Given the description of an element on the screen output the (x, y) to click on. 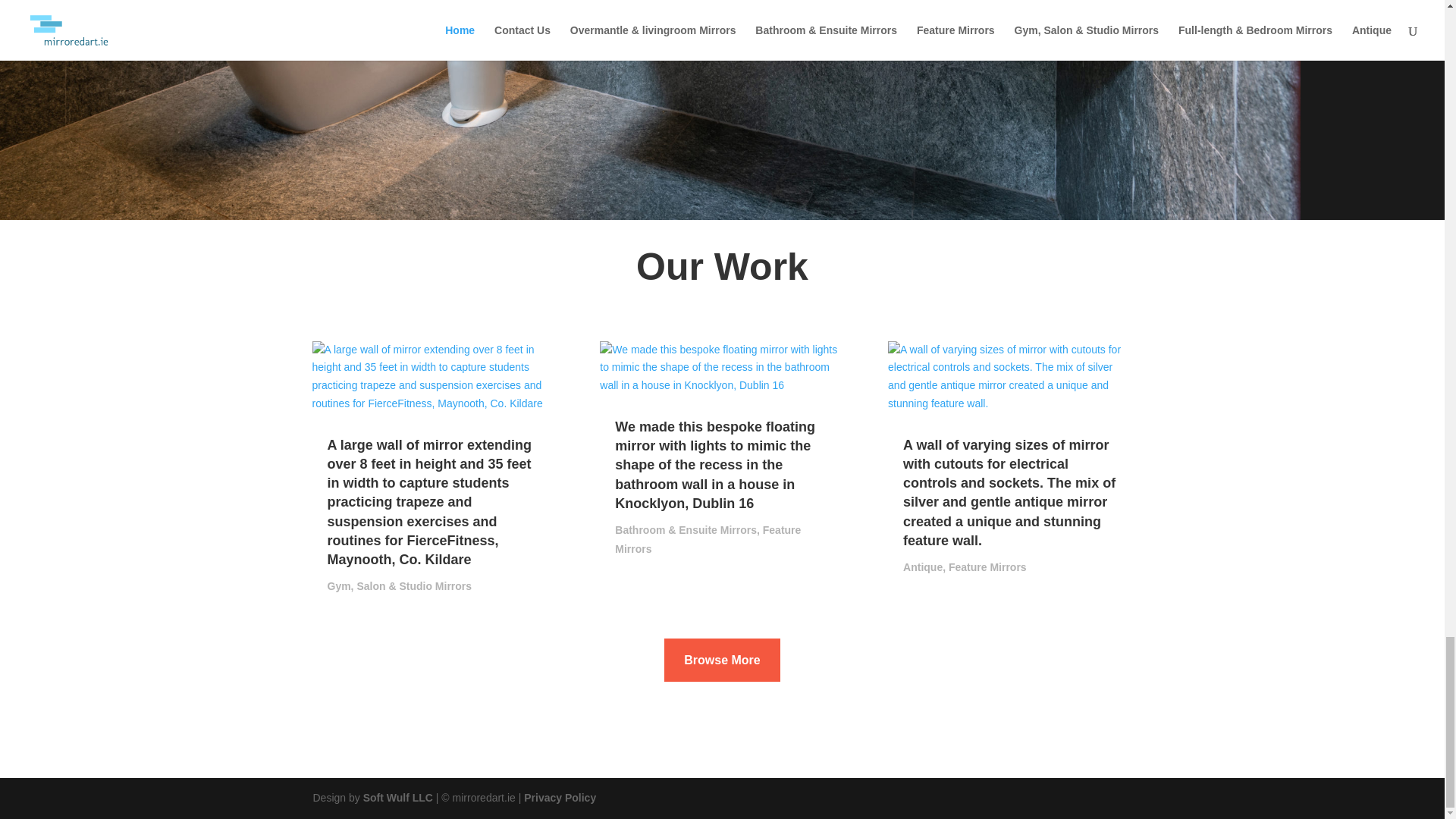
Soft Wulf LLC (397, 797)
Feature Mirrors (987, 567)
Browse More (720, 659)
Antique (922, 567)
Privacy Policy (559, 797)
Feature Mirrors (707, 539)
